Given the description of an element on the screen output the (x, y) to click on. 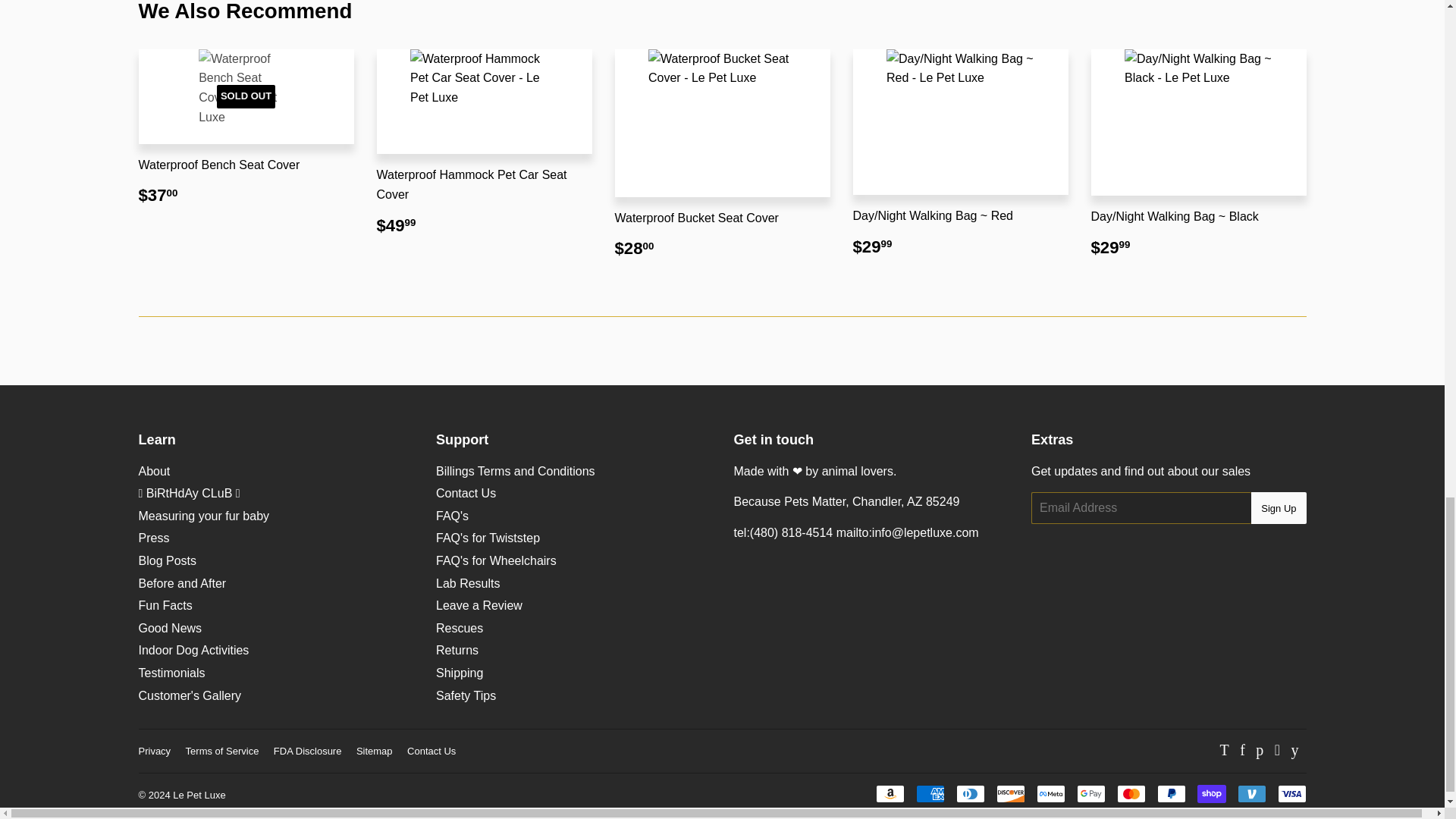
Phone Number (782, 532)
Mastercard (1130, 793)
Discover (1010, 793)
American Express (929, 793)
Visa (1291, 793)
Meta Pay (1049, 793)
PayPal (1171, 793)
Shop Pay (1210, 793)
Google Pay (1091, 793)
Amazon (889, 793)
